Given the description of an element on the screen output the (x, y) to click on. 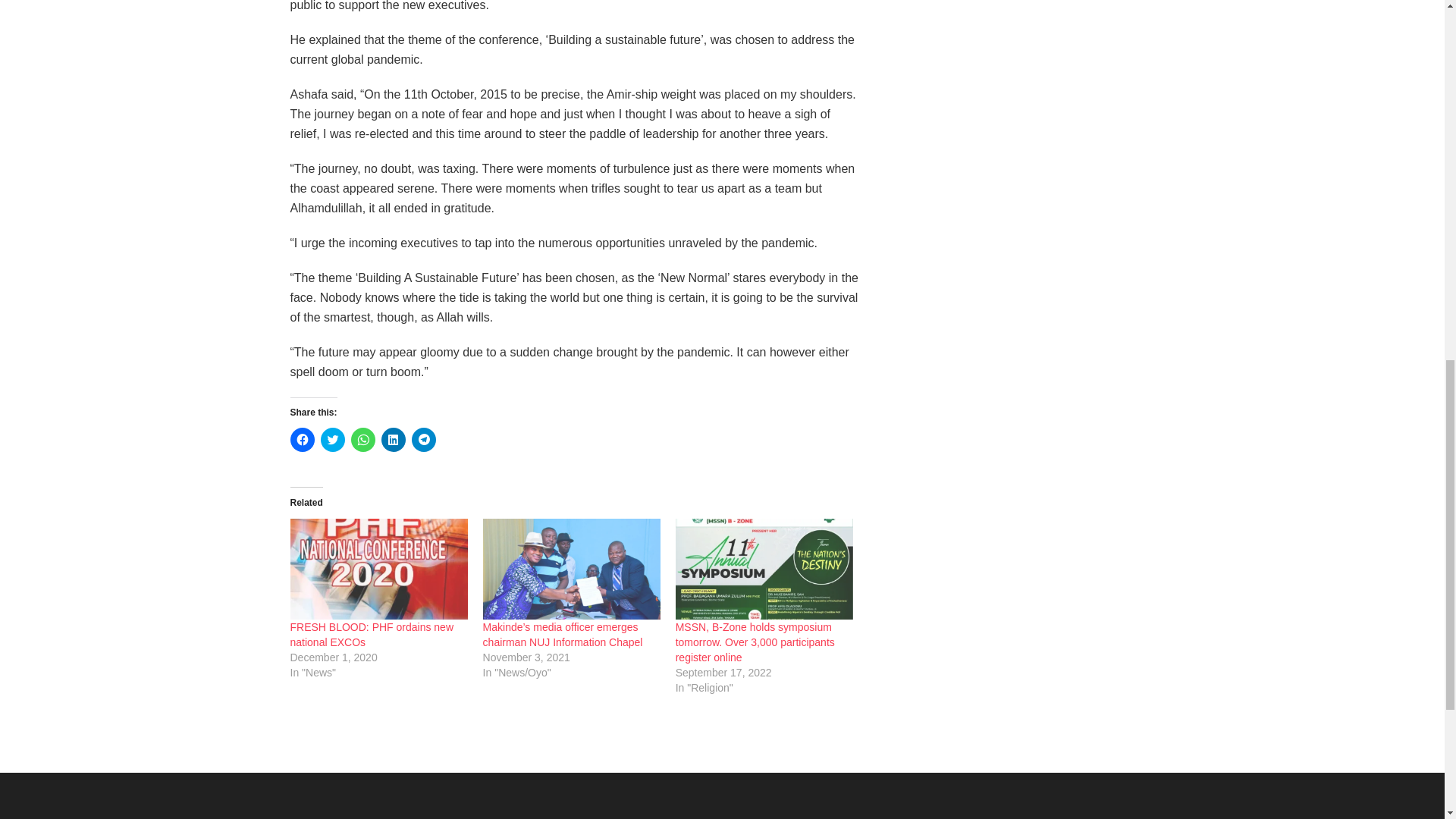
Click to share on WhatsApp (362, 439)
FRESH BLOOD: PHF ordains new national EXCOs (370, 634)
FRESH BLOOD: PHF ordains new national EXCOs (378, 568)
Click to share on Facebook (301, 439)
Click to share on LinkedIn (392, 439)
Click to share on Telegram (422, 439)
Click to share on Twitter (331, 439)
